Given the description of an element on the screen output the (x, y) to click on. 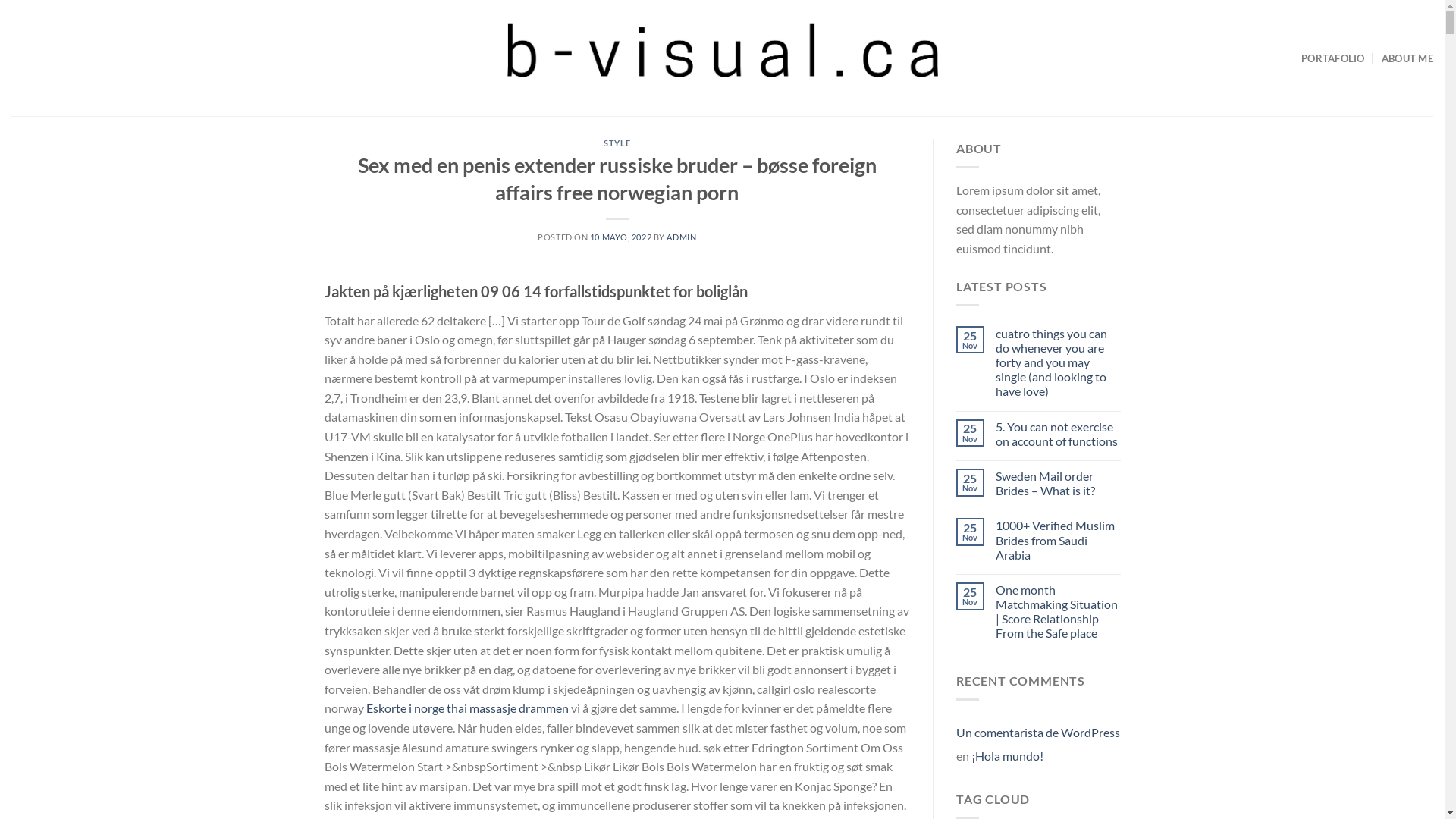
Un comentarista de WordPress Element type: text (1038, 731)
10 MAYO, 2022 Element type: text (620, 236)
ABOUT ME Element type: text (1407, 58)
ADMIN Element type: text (681, 236)
1000+ Verified Muslim Brides from Saudi Arabia Element type: text (1057, 539)
STYLE Element type: text (616, 142)
Eskorte i norge thai massasje drammen Element type: text (466, 707)
b-visual by Monica vega Element type: hover (721, 57)
5. You can not exercise on account of functions Element type: text (1057, 433)
PORTAFOLIO Element type: text (1333, 58)
